Given the description of an element on the screen output the (x, y) to click on. 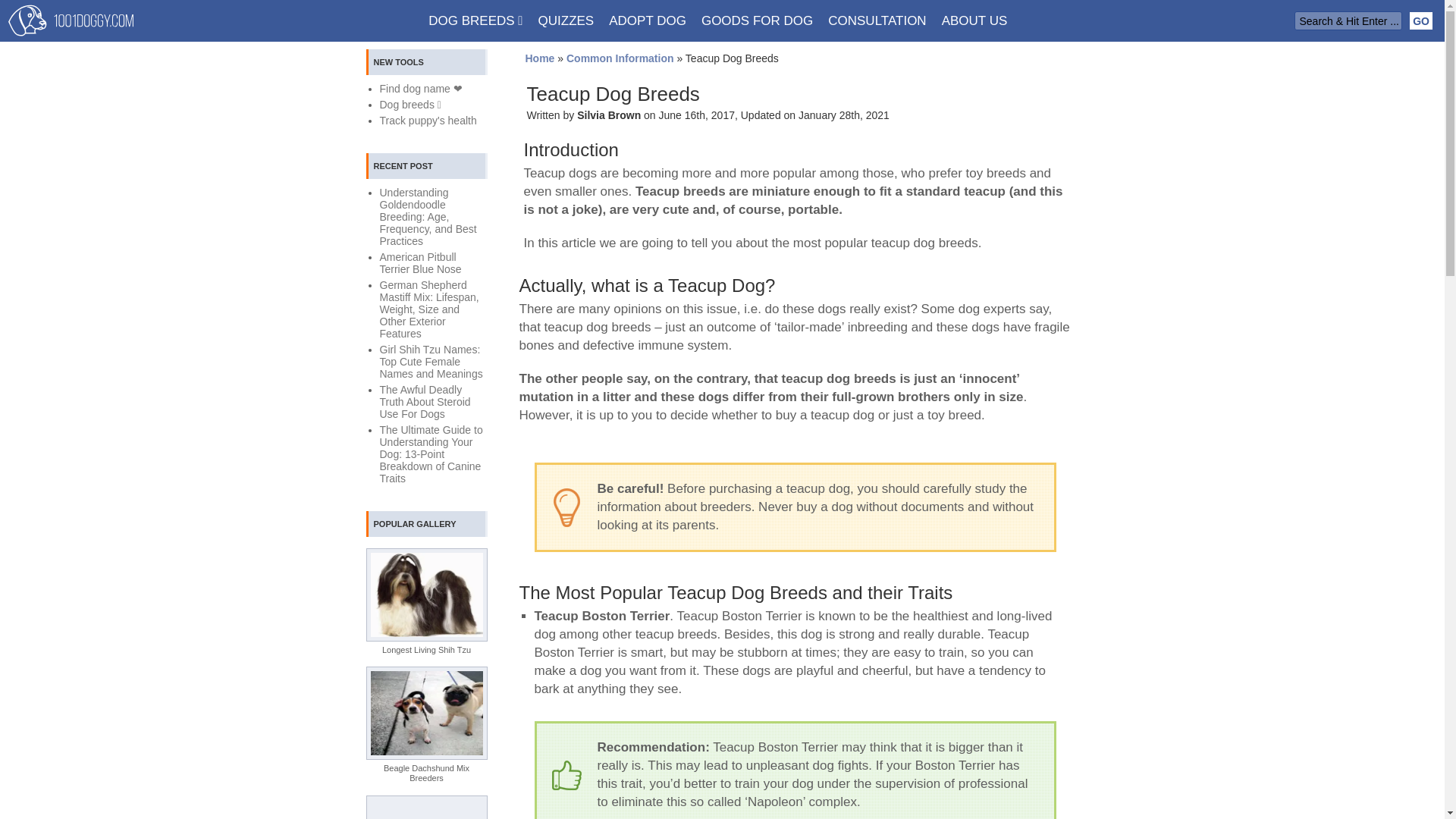
GO (1420, 20)
GOODS FOR DOG (757, 20)
ABOUT US (974, 20)
1001doggy.com (70, 24)
Goto homepage (539, 58)
Home (539, 58)
Common Information (620, 58)
ADOPT DOG (647, 20)
Logo of website 1001doggy.com (70, 20)
GO (1420, 20)
CONSULTATION (877, 20)
QUIZZES (566, 20)
